Given the description of an element on the screen output the (x, y) to click on. 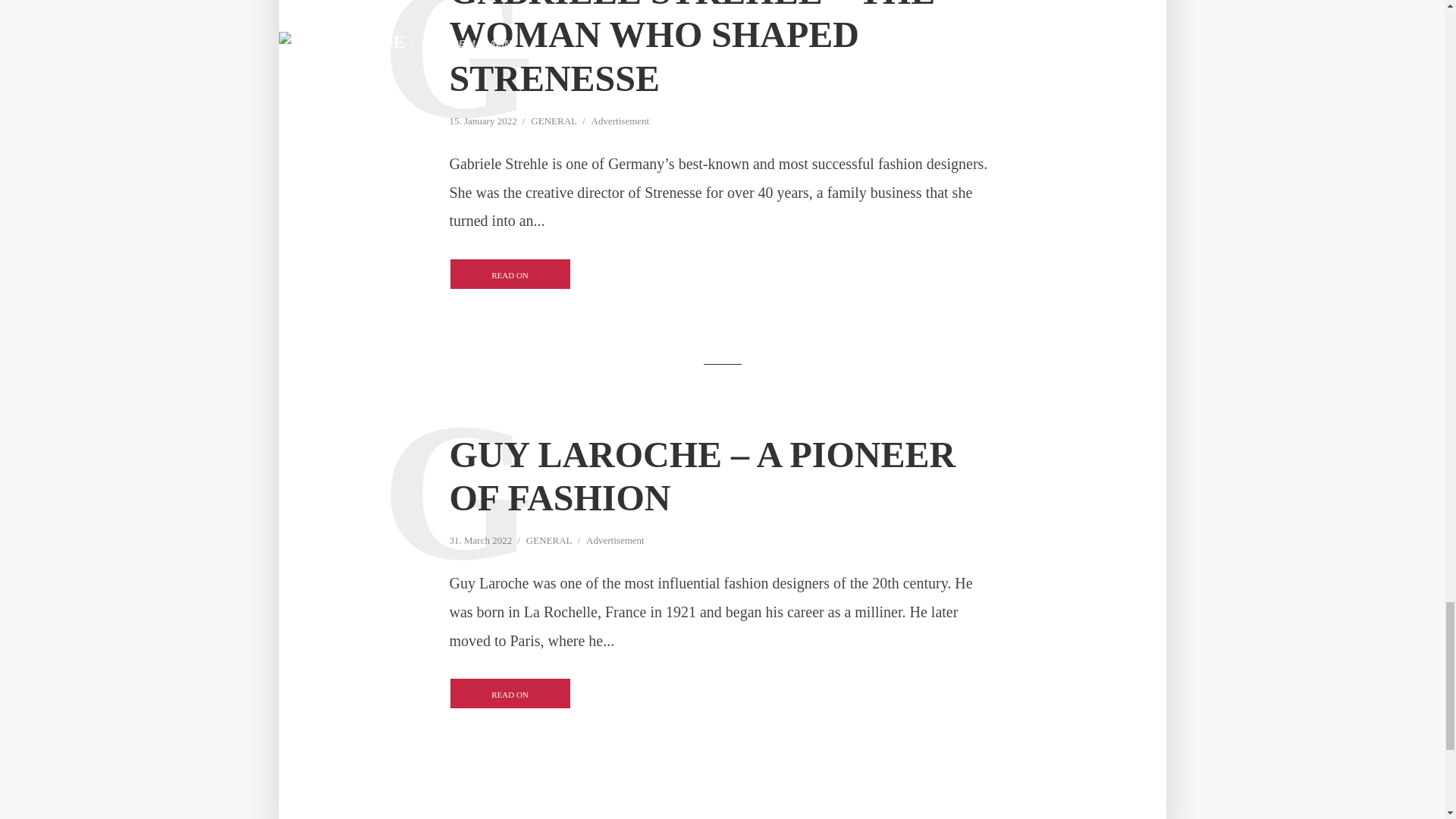
Advertisement (615, 540)
READ ON (509, 273)
GENERAL (553, 121)
READ ON (509, 693)
Advertisement (620, 120)
GENERAL (548, 540)
